Given the description of an element on the screen output the (x, y) to click on. 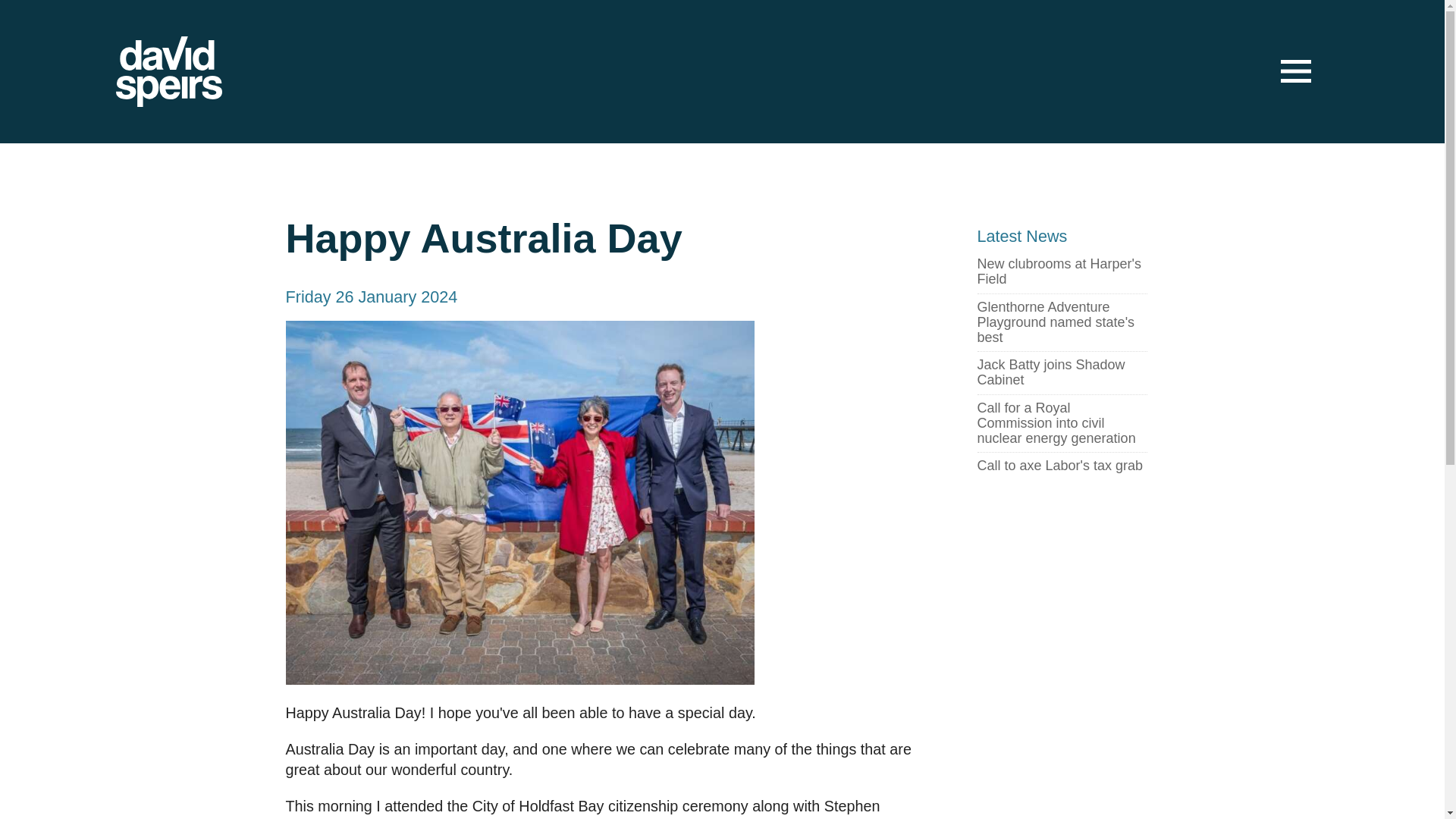
Call to axe Labor's tax grab (1059, 465)
Glenthorne Adventure Playground named state's best (1061, 322)
Jack Batty joins Shadow Cabinet (1061, 372)
Latest News (1021, 235)
New clubrooms at Harper's Field (1061, 271)
